Given the description of an element on the screen output the (x, y) to click on. 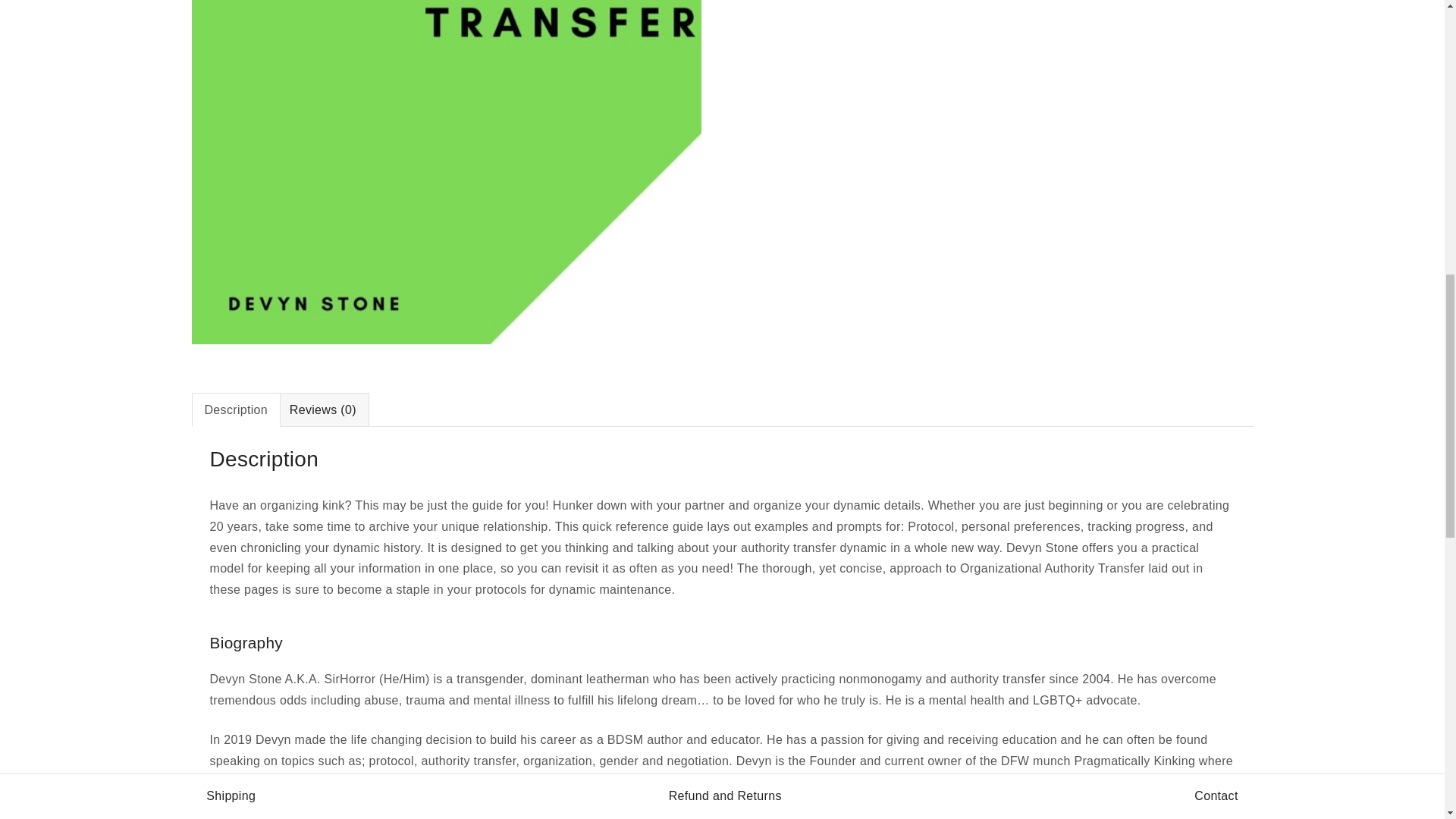
Description (236, 409)
